Given the description of an element on the screen output the (x, y) to click on. 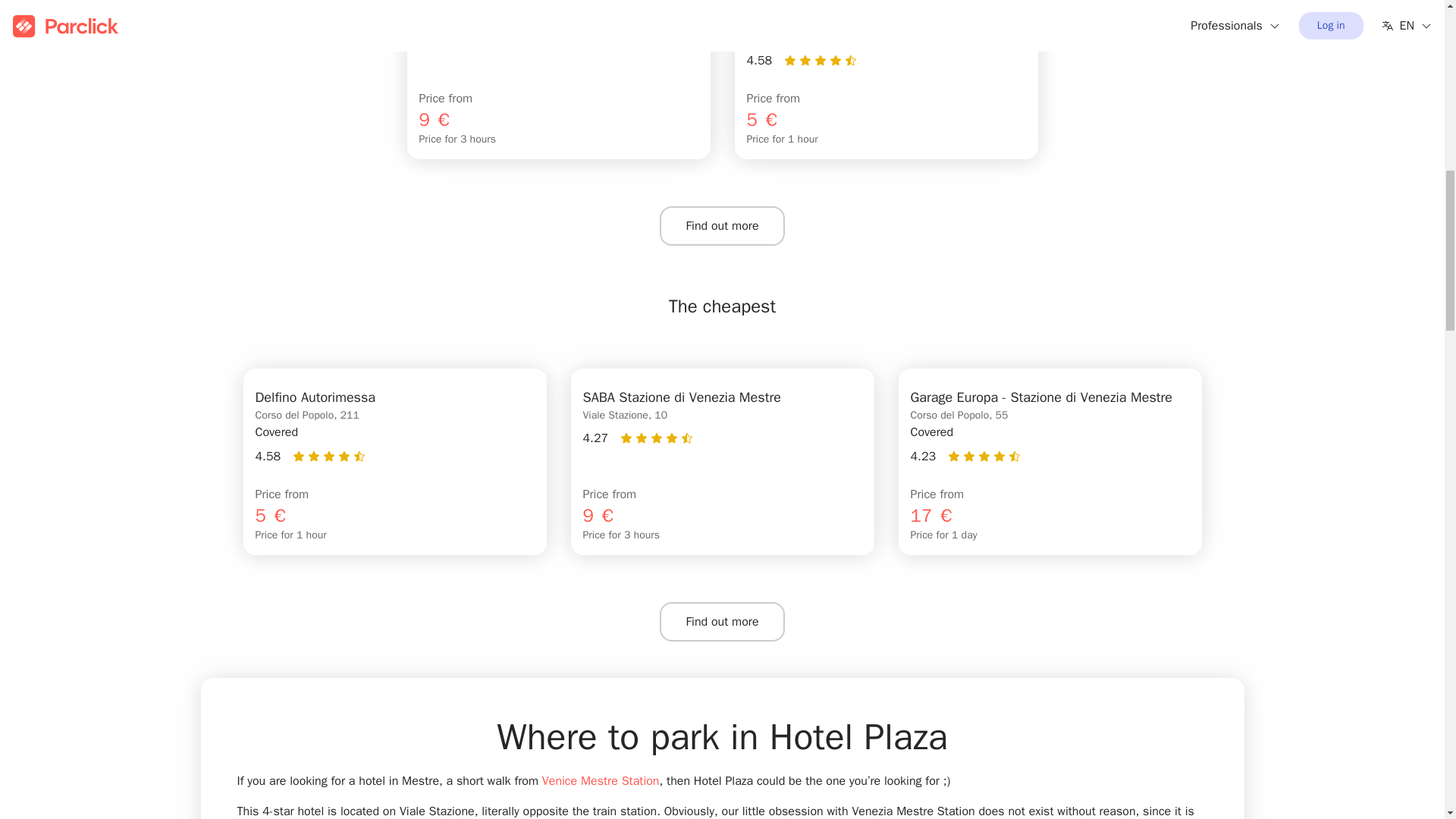
Venice Mestre Station (600, 780)
Garage Europa - Stazione di Venezia Mestre Car park (1049, 461)
Find out more (721, 621)
Delfino Autorimessa Car park (884, 79)
SABA Stazione di Venezia Mestre Car park (721, 461)
Delfino Autorimessa Car park (394, 461)
Find out more (721, 225)
Venice Mestre Station (600, 780)
SABA Stazione di Venezia Mestre Car park (558, 79)
